Given the description of an element on the screen output the (x, y) to click on. 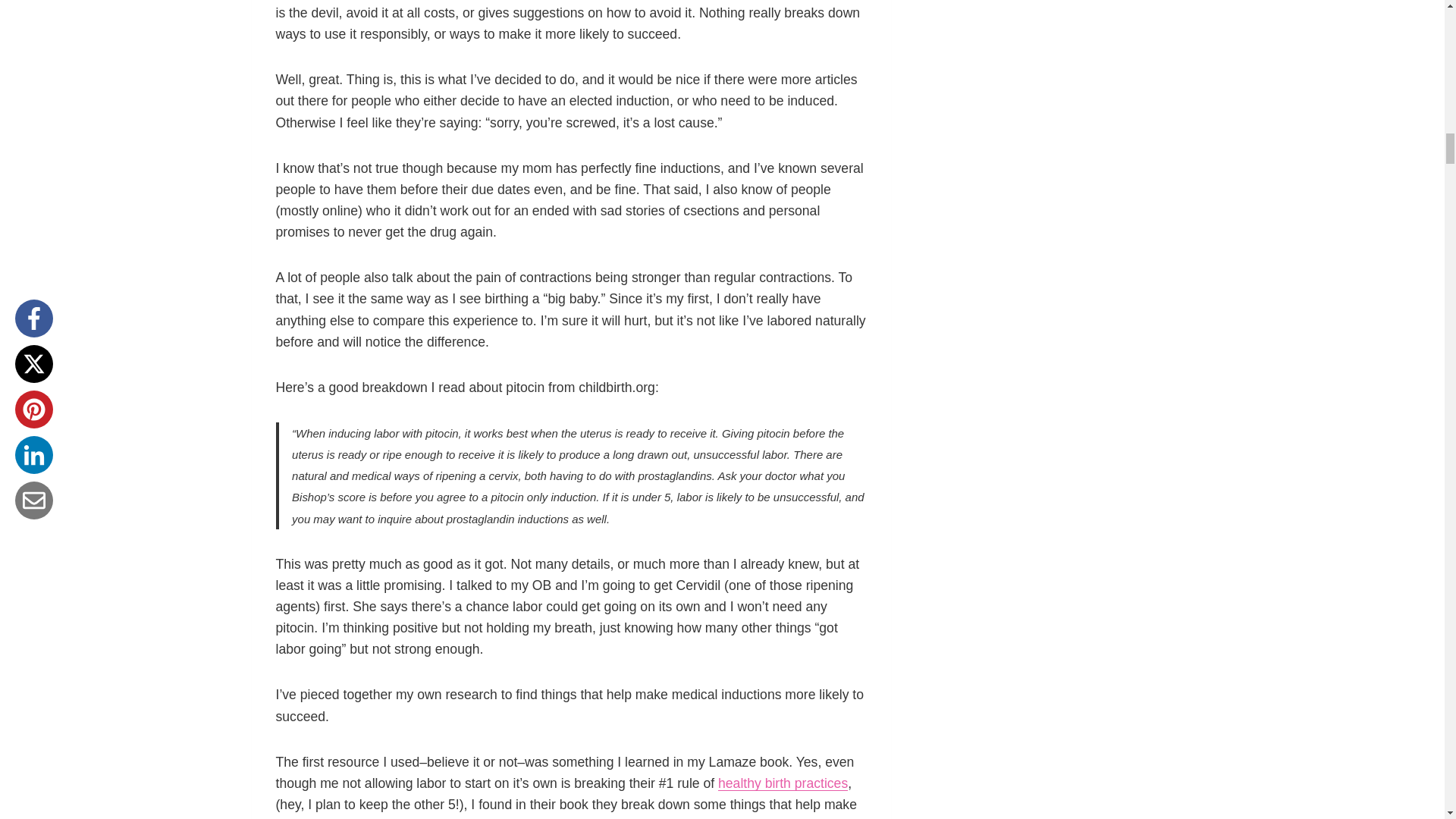
healthy birth practices (782, 783)
